Given the description of an element on the screen output the (x, y) to click on. 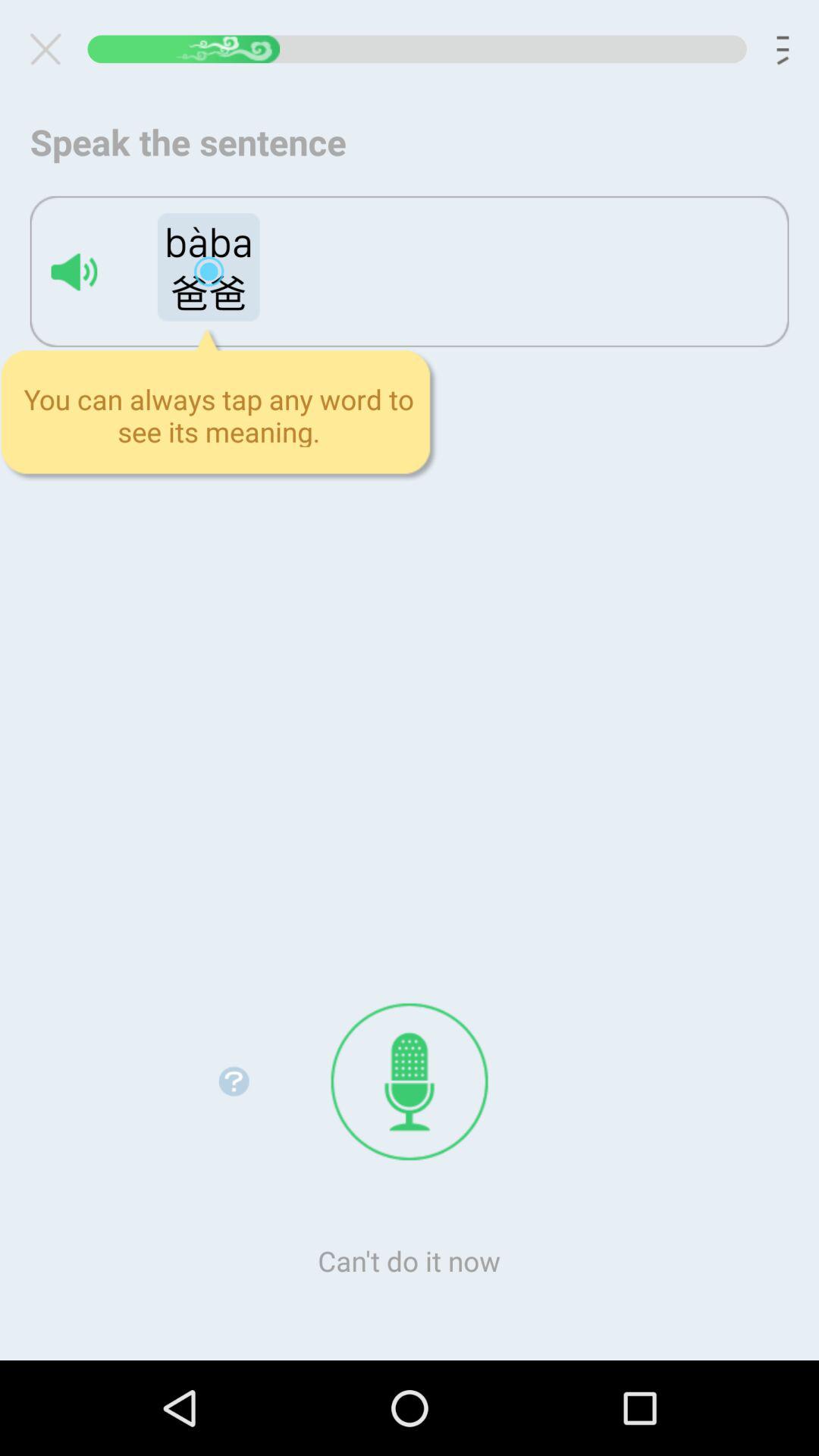
close the page (51, 49)
